Given the description of an element on the screen output the (x, y) to click on. 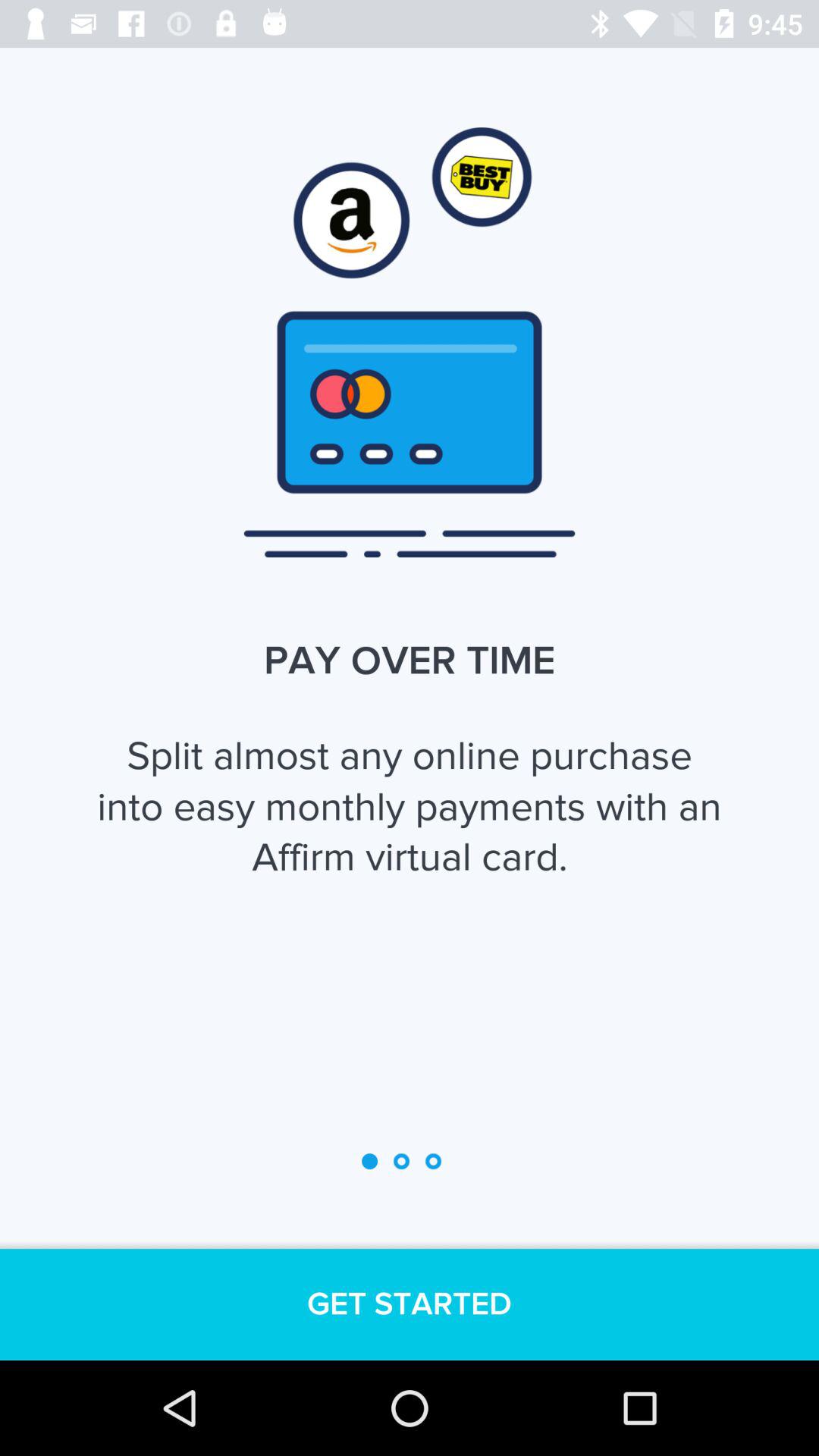
turn off the get started (409, 1304)
